Given the description of an element on the screen output the (x, y) to click on. 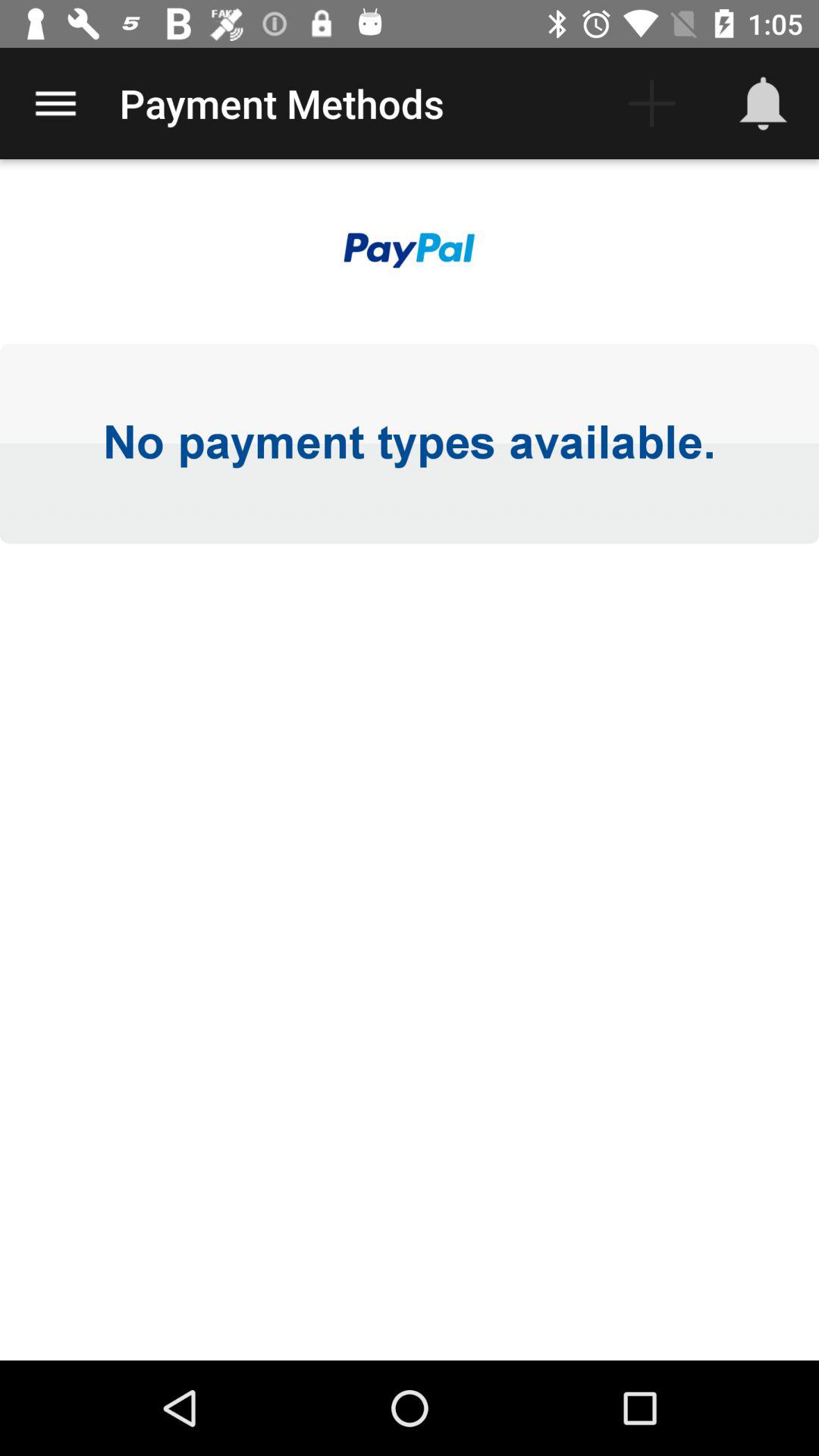
open app next to payment methods (55, 103)
